Given the description of an element on the screen output the (x, y) to click on. 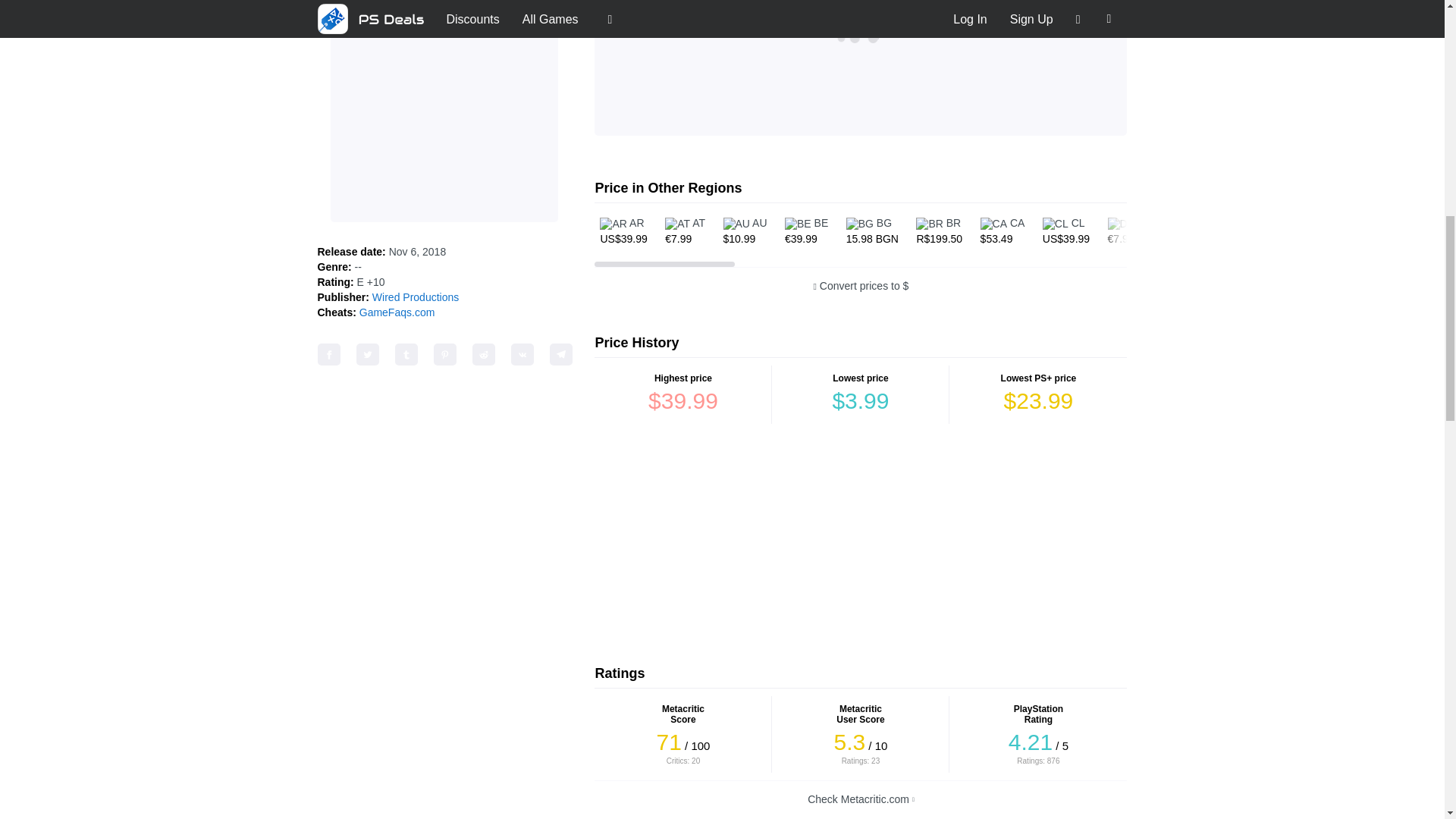
Belgium (805, 230)
Austria (684, 230)
Bulgaria (872, 230)
Finland (1312, 230)
Argentina (623, 230)
Chile (1065, 230)
Denmark (1192, 230)
Germany (1129, 230)
Canada (1002, 230)
France (1367, 230)
